Given the description of an element on the screen output the (x, y) to click on. 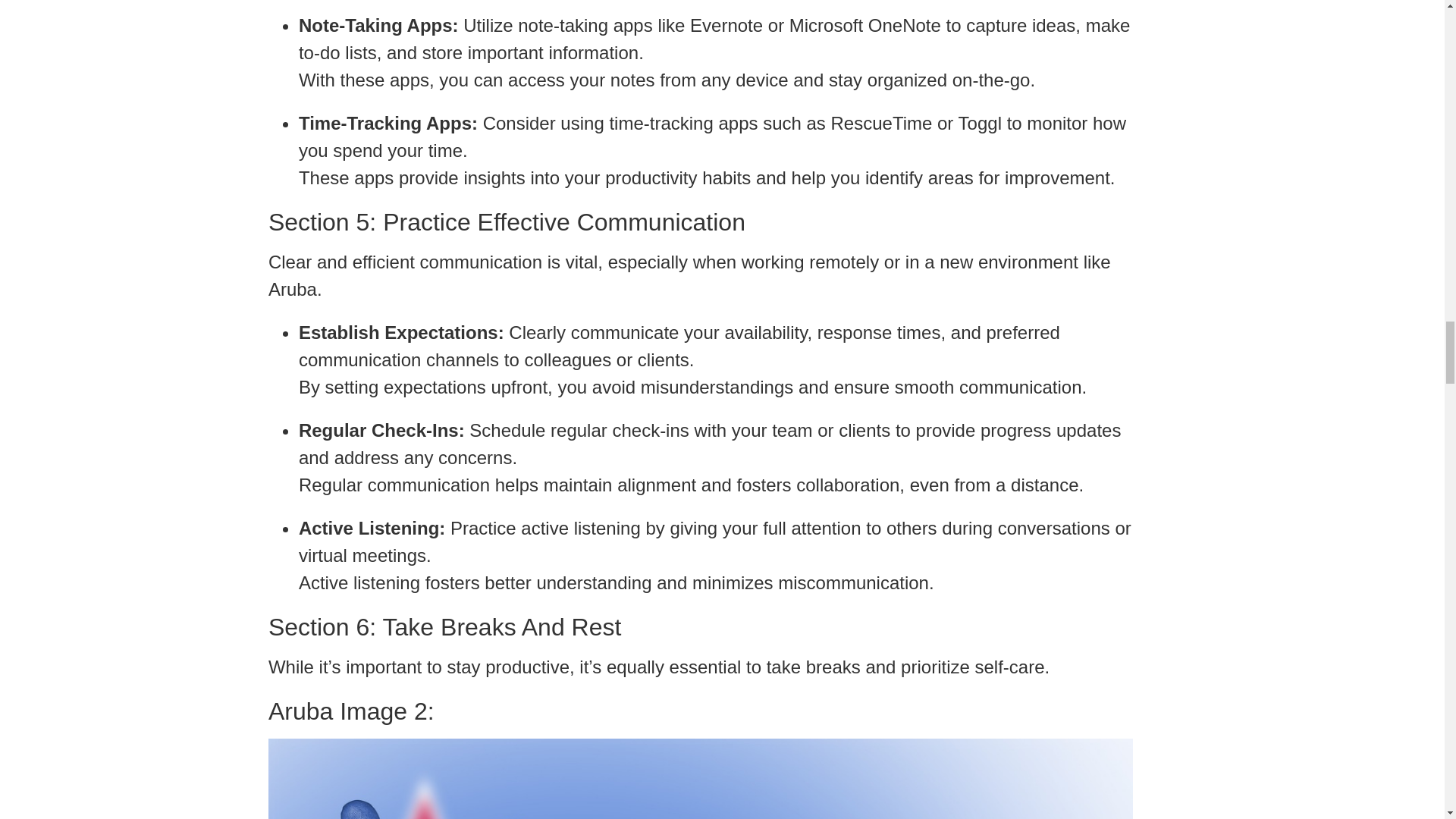
Section 5: Practice Effective Communication (699, 222)
Aruba Image 2: (699, 710)
Section 6: Take Breaks and Rest (699, 626)
